Given the description of an element on the screen output the (x, y) to click on. 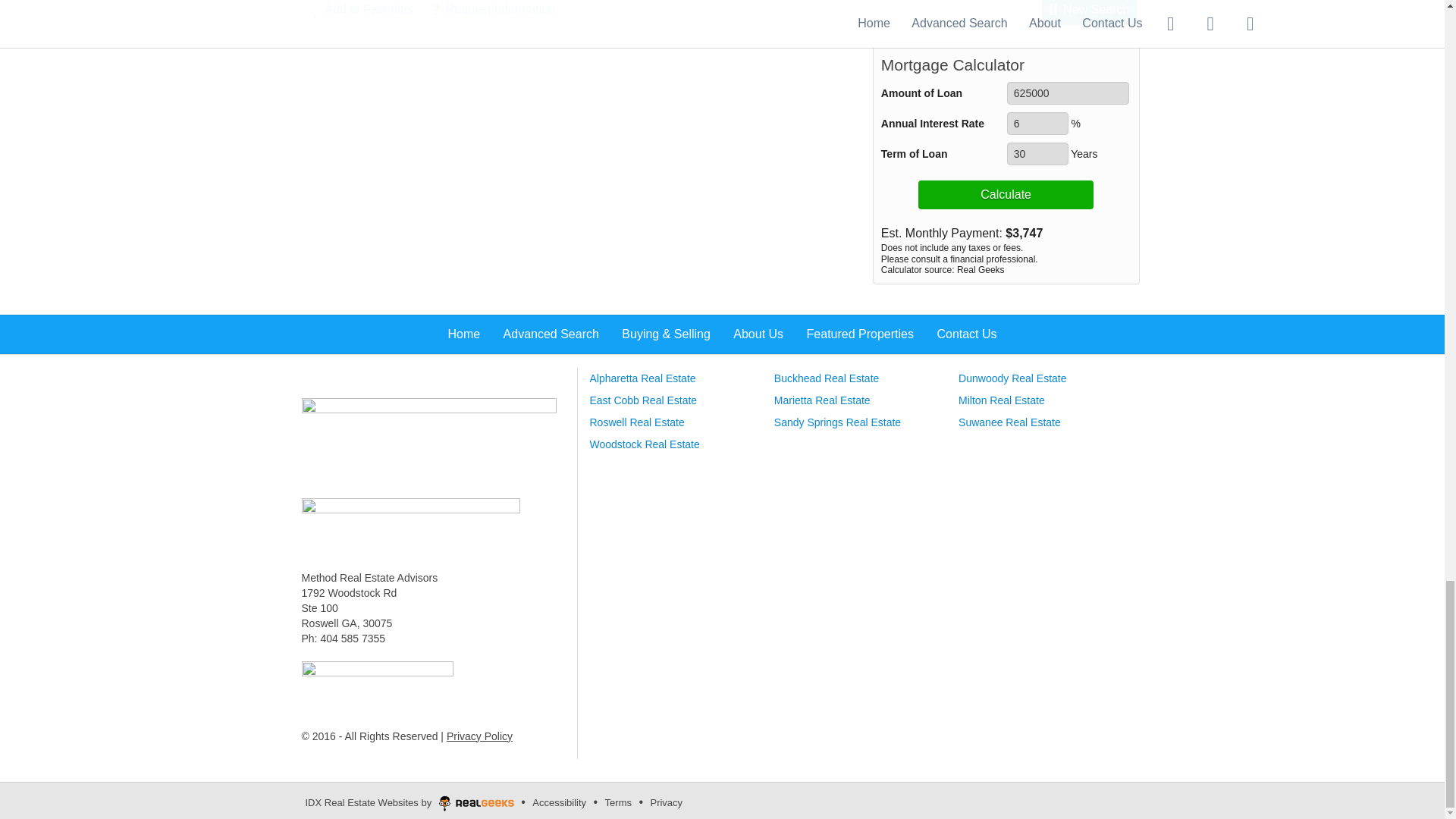
6 (1037, 123)
30 (1037, 153)
625000 (1068, 92)
Advanced Search (428, 439)
Privacy Policy for GeorgiaAR.com (479, 735)
